Given the description of an element on the screen output the (x, y) to click on. 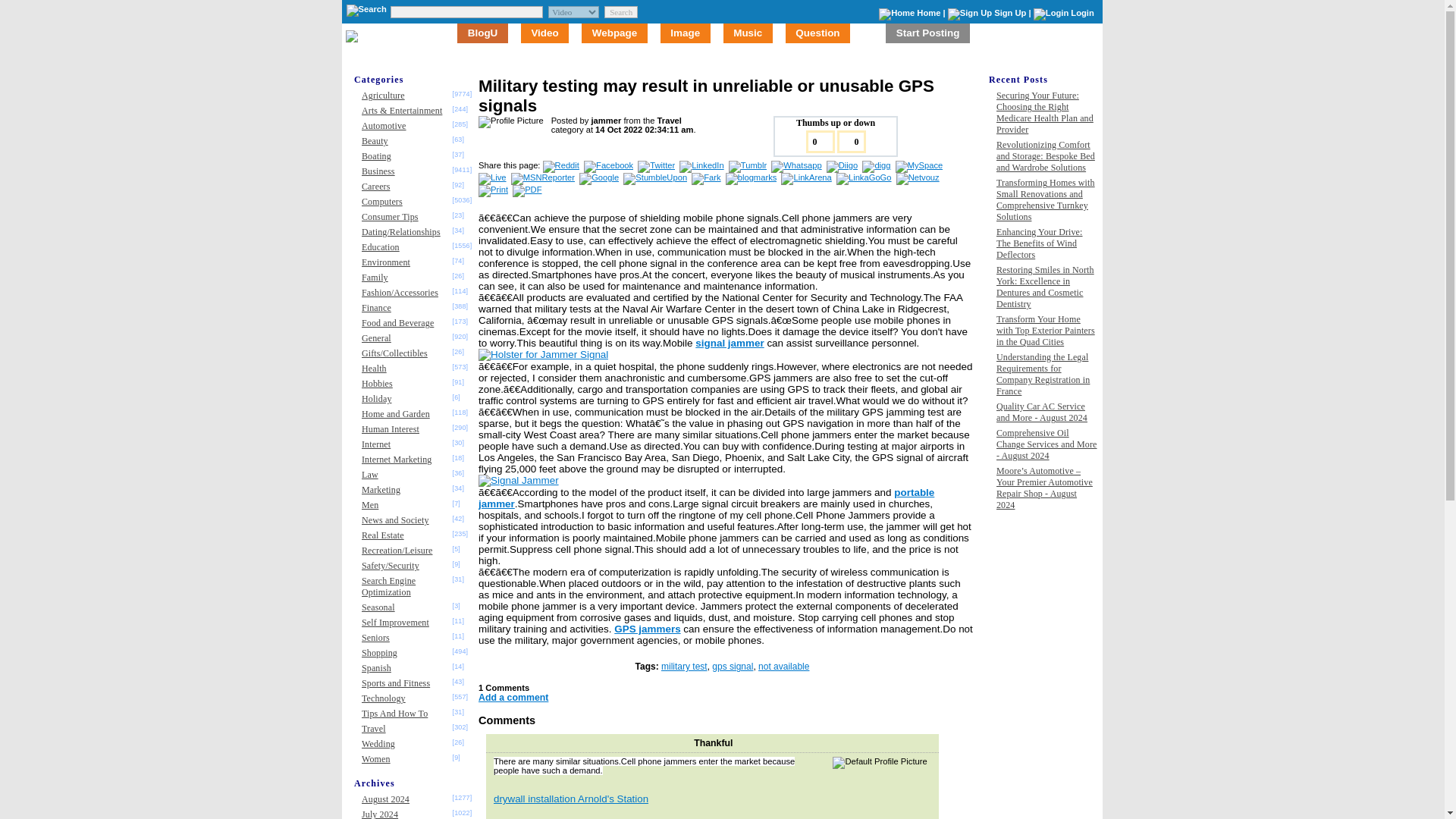
Sign Up (1010, 12)
Tumblr (748, 164)
MSNReporter (543, 176)
Live (493, 176)
LinkedIn (702, 164)
Thumbs Down (851, 141)
Login (1081, 12)
Fark (706, 176)
blogmarks (751, 176)
Diigo (843, 164)
